Given the description of an element on the screen output the (x, y) to click on. 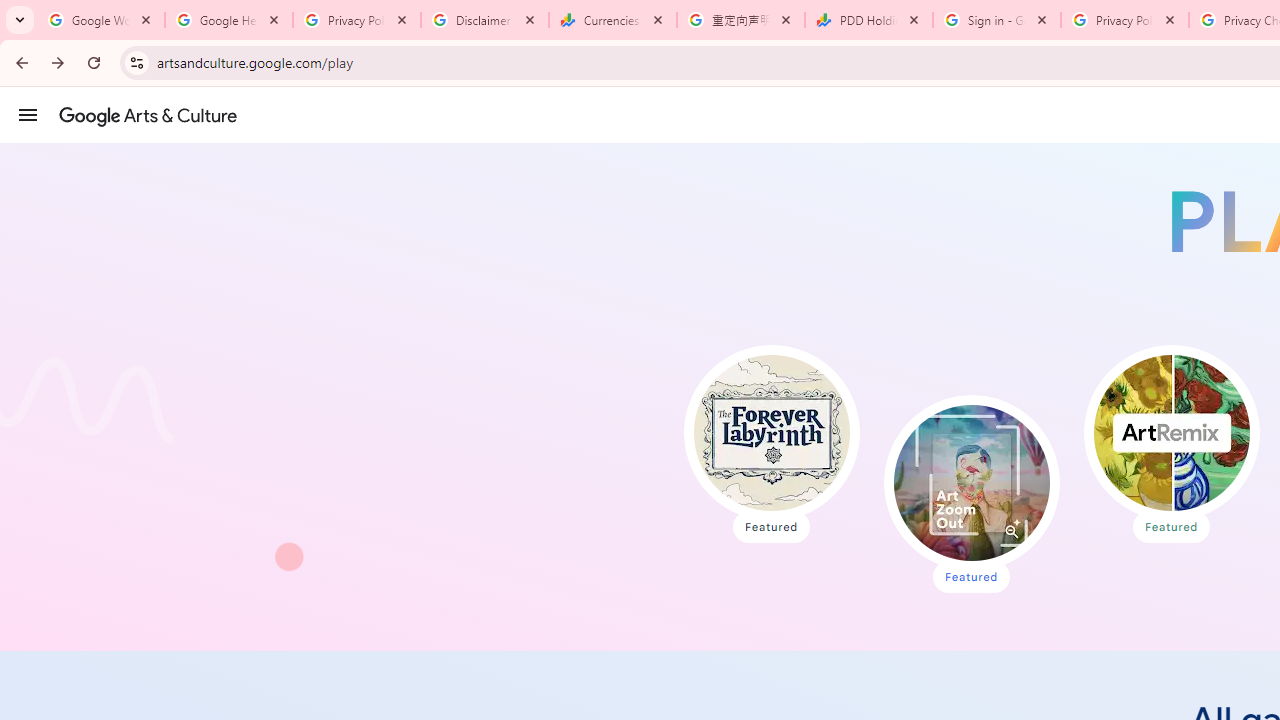
Art Zoom Out (971, 482)
Art Remix (1170, 432)
The Forever Labyrinth (771, 432)
PDD Holdings Inc - ADR (PDD) Price & News - Google Finance (869, 20)
